Given the description of an element on the screen output the (x, y) to click on. 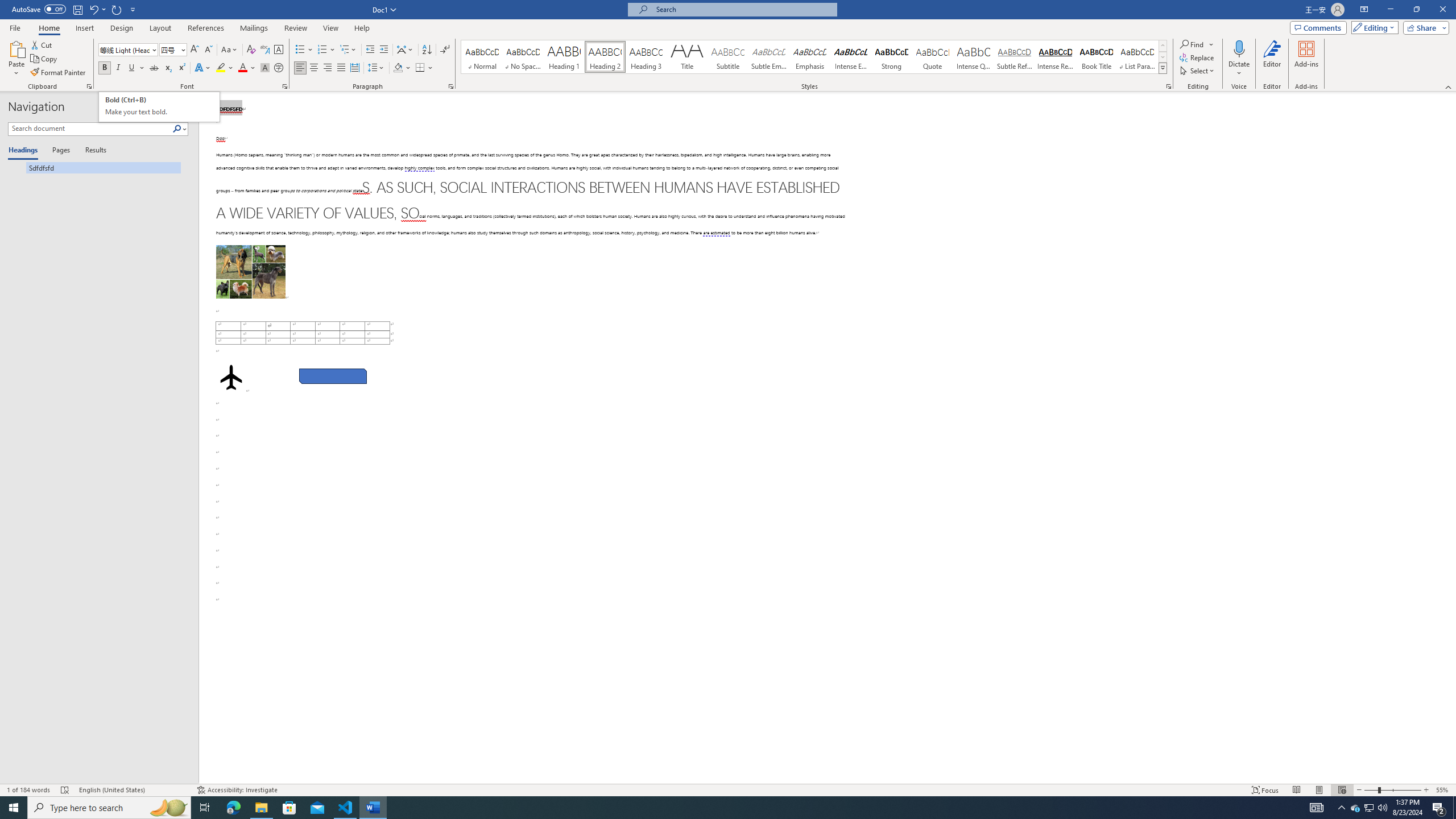
Underline (136, 67)
Numbering (322, 49)
Office Clipboard... (88, 85)
Review (295, 28)
Phonetic Guide... (264, 49)
Numbering (326, 49)
Task Pane Options (167, 107)
